Given the description of an element on the screen output the (x, y) to click on. 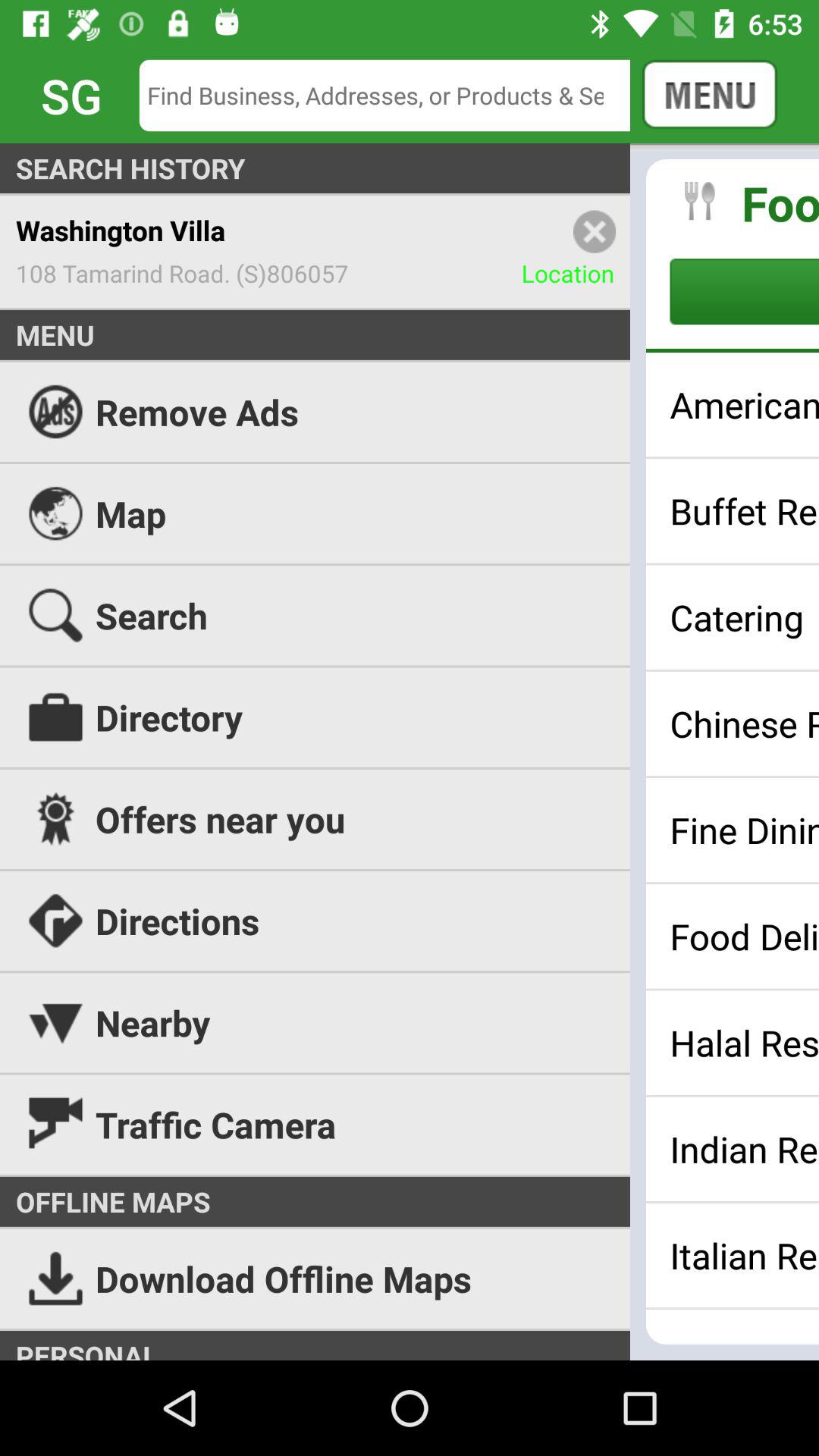
press icon to the left of the cancel icon (395, 95)
